Given the description of an element on the screen output the (x, y) to click on. 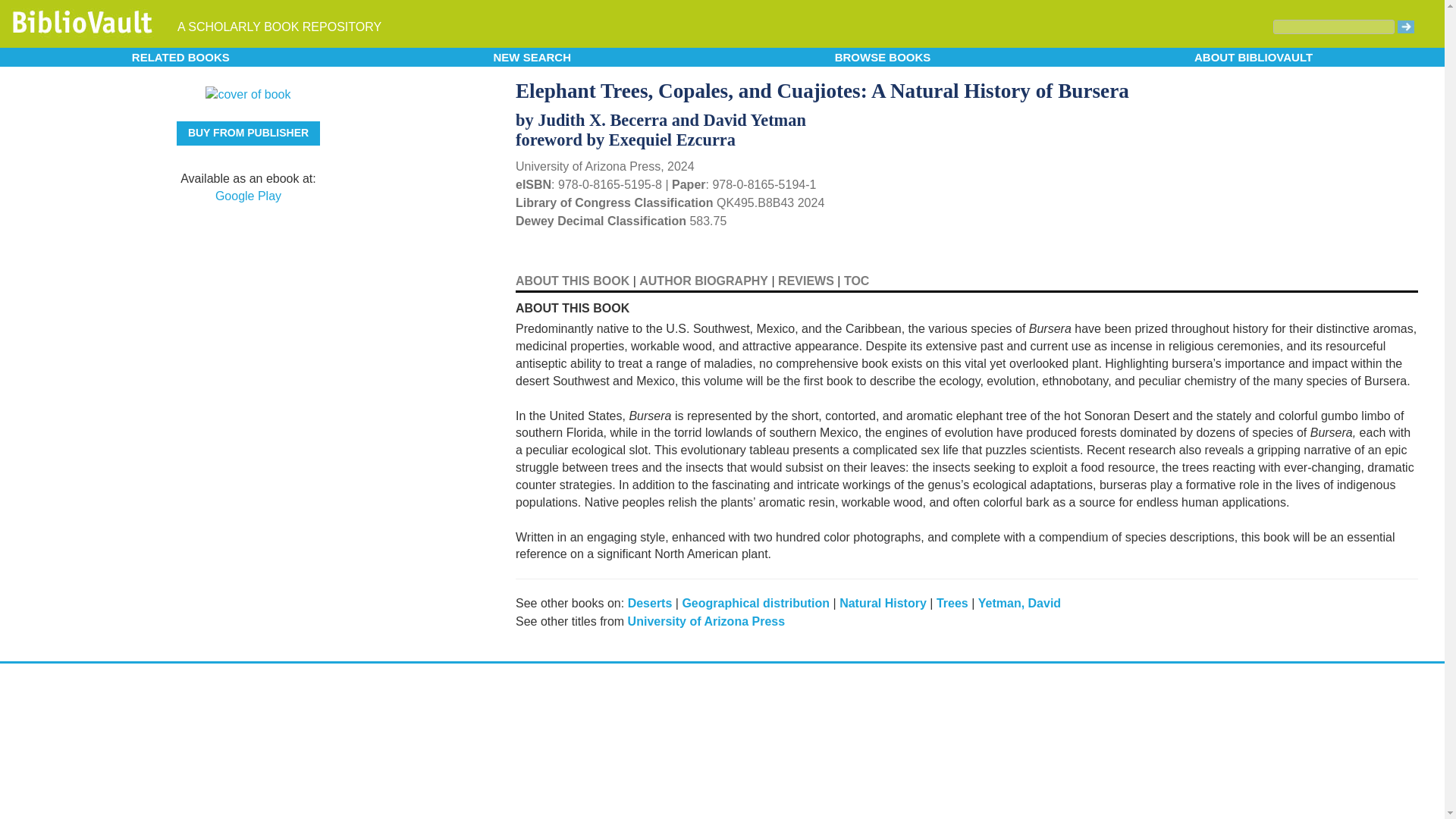
Send as an email (1404, 87)
Share on Twitter (1358, 86)
Share on Facebook (1384, 90)
BROWSE BOOKS (882, 56)
NEW SEARCH (532, 56)
RELATED BOOKS (180, 56)
BUY FROM PUBLISHER (248, 133)
Google Play (248, 195)
Search (1333, 26)
